Given the description of an element on the screen output the (x, y) to click on. 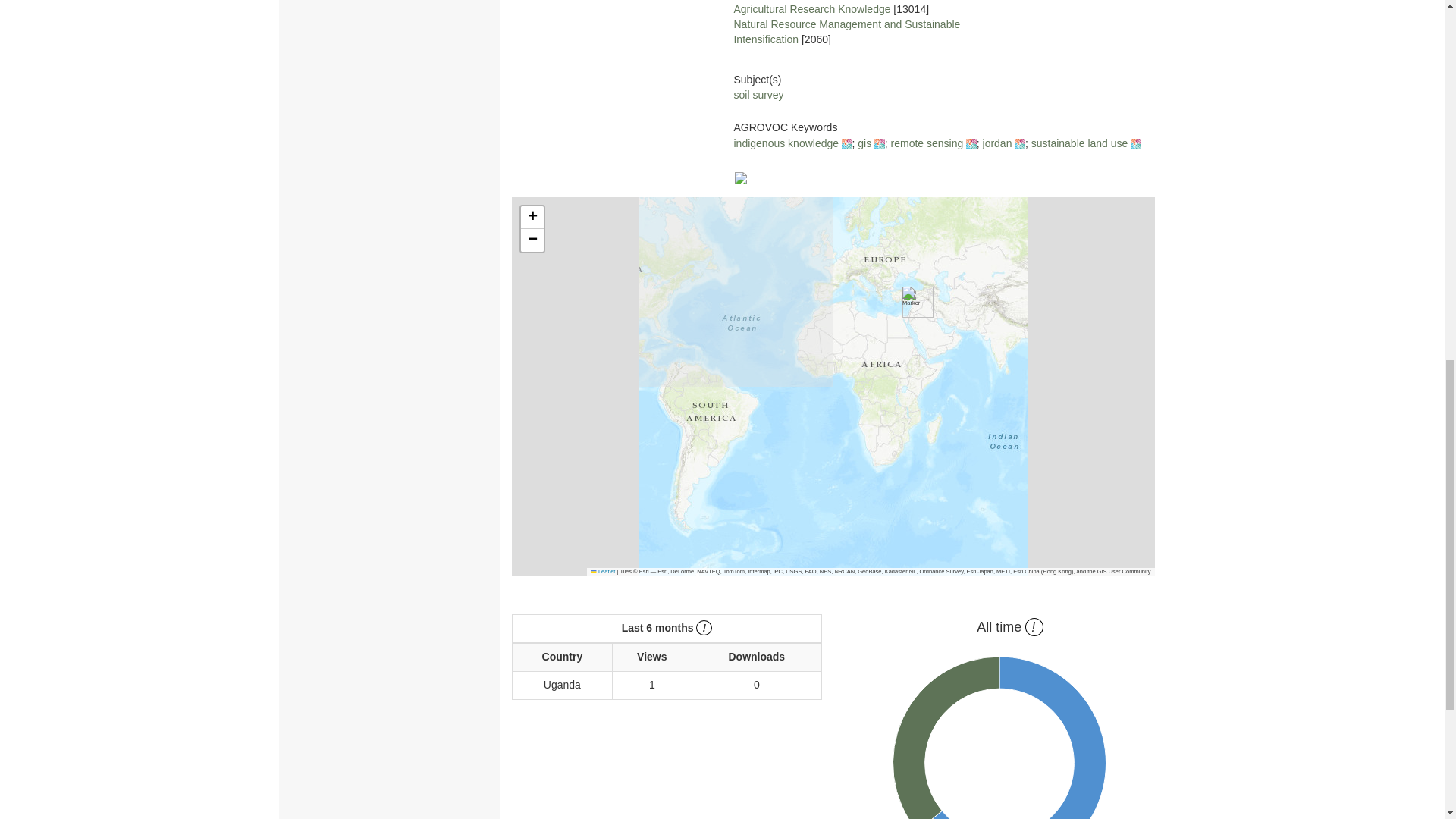
Agricultural Research Knowledge (811, 9)
gis (863, 143)
Natural Resource Management and Sustainable Intensification (846, 31)
Zoom in (532, 217)
A JavaScript library for interactive maps (602, 571)
indigenous knowledge (785, 143)
Zoom out (532, 240)
soil survey (758, 94)
